Given the description of an element on the screen output the (x, y) to click on. 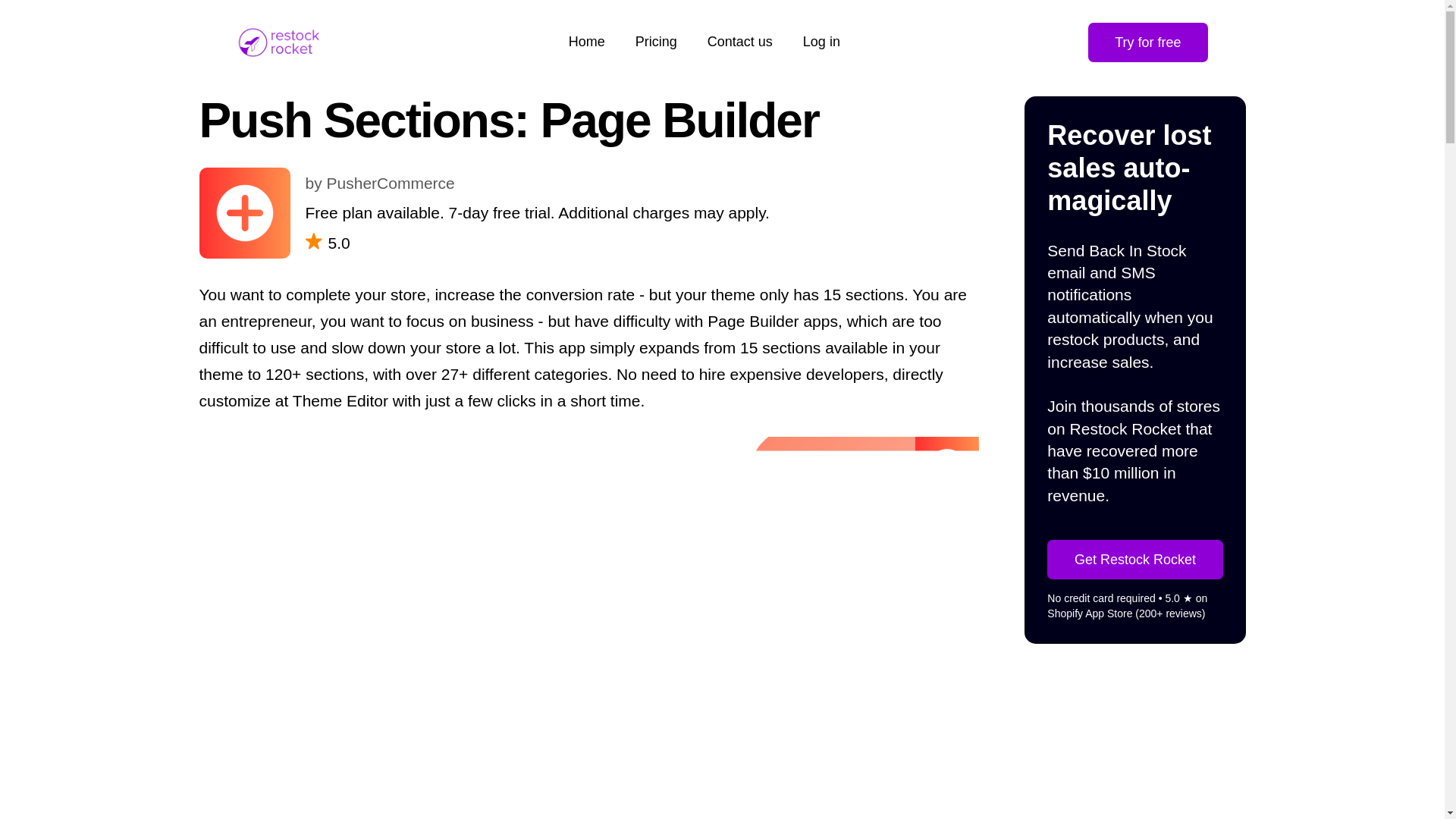
Contact us (740, 41)
Home (586, 41)
Pricing (655, 41)
Log in (820, 41)
Try for free (1147, 42)
Get Restock Rocket (1134, 559)
